Given the description of an element on the screen output the (x, y) to click on. 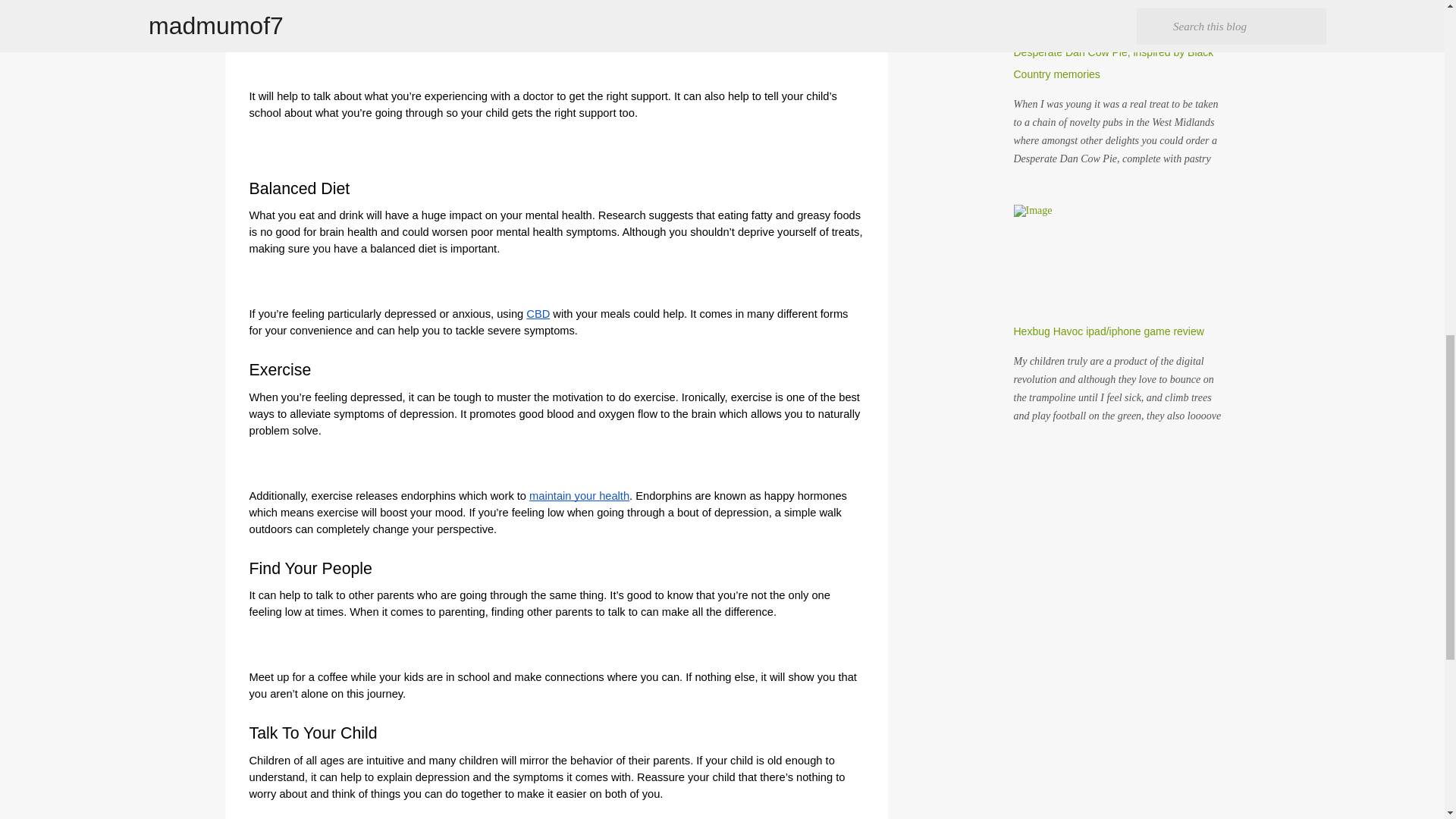
Desperate Dan Cow Pie, inspired by Black Country memories (1112, 62)
maintain your health (578, 495)
CBD (537, 313)
